Given the description of an element on the screen output the (x, y) to click on. 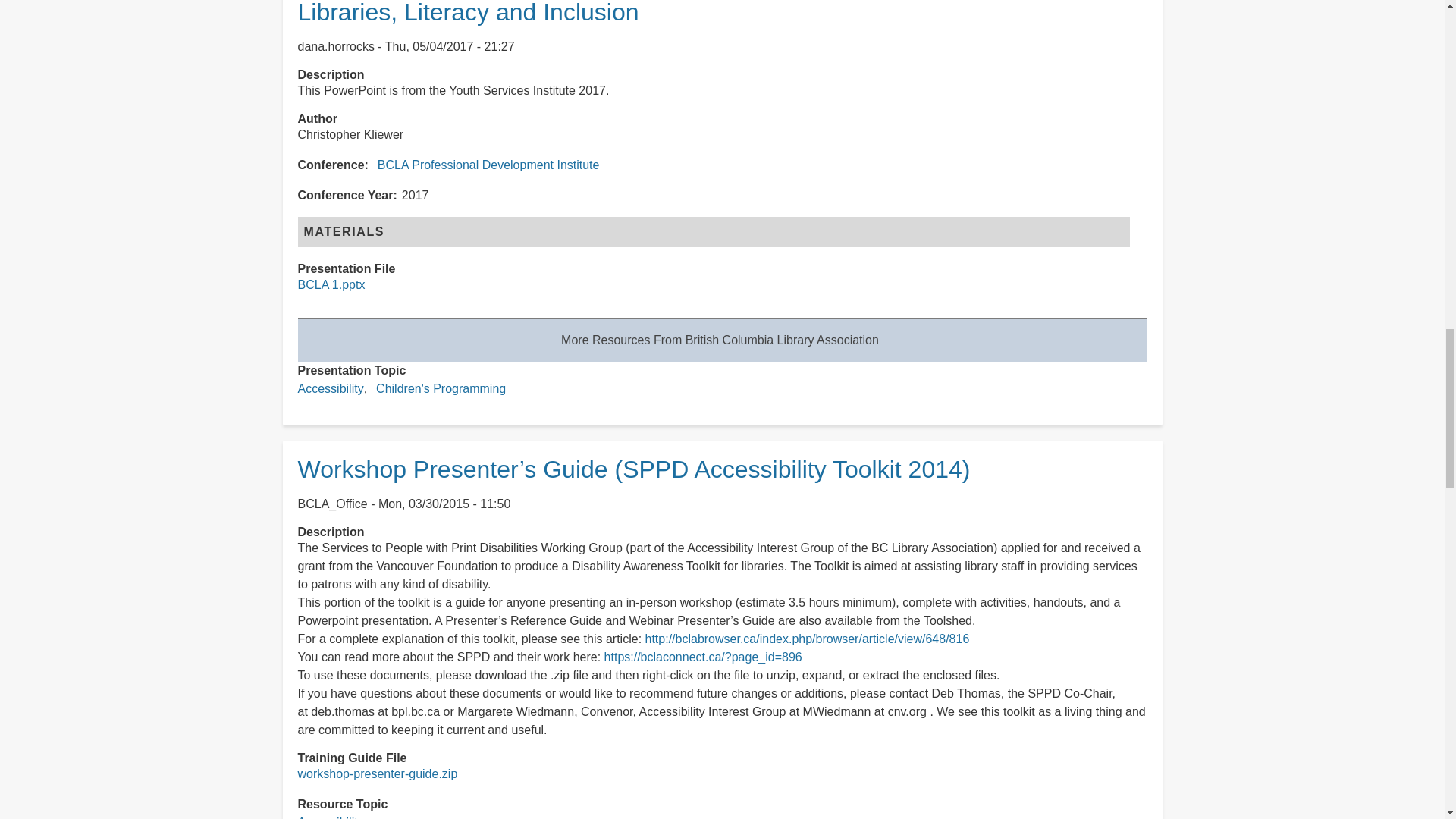
Thursday, May 4, 2017 - 21:27 (450, 46)
workshop-presenter-guide.zip (377, 773)
Monday, March 30, 2015 - 11:50 (444, 503)
Libraries, Literacy and Inclusion (468, 12)
British Columbia Library Association (719, 339)
BCLA Professional Development Institute (488, 164)
Accessibility (329, 817)
Children's Programming (440, 388)
BCLA 1.pptx (331, 284)
Accessibility (329, 388)
